Given the description of an element on the screen output the (x, y) to click on. 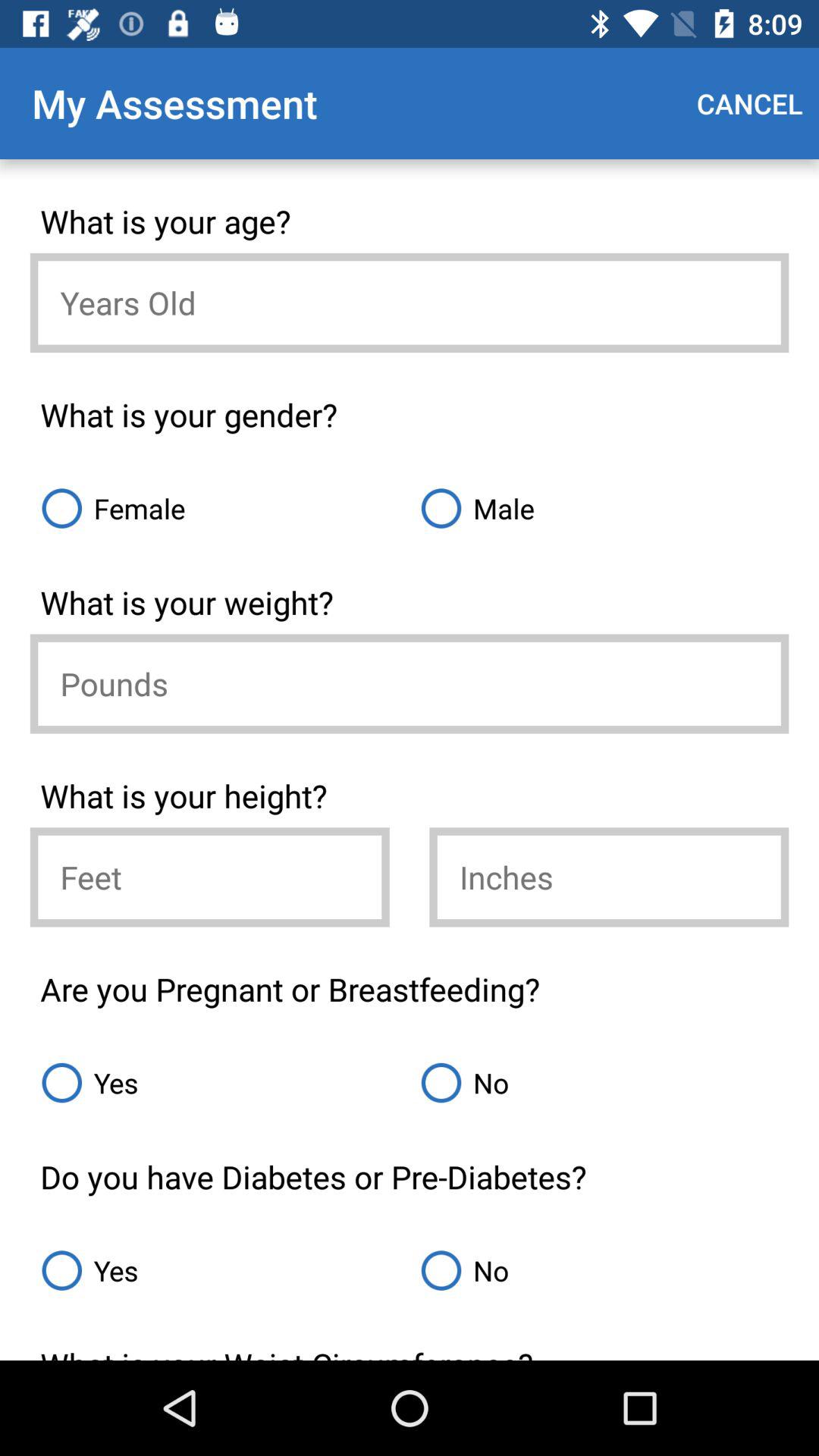
input height feet (209, 877)
